Given the description of an element on the screen output the (x, y) to click on. 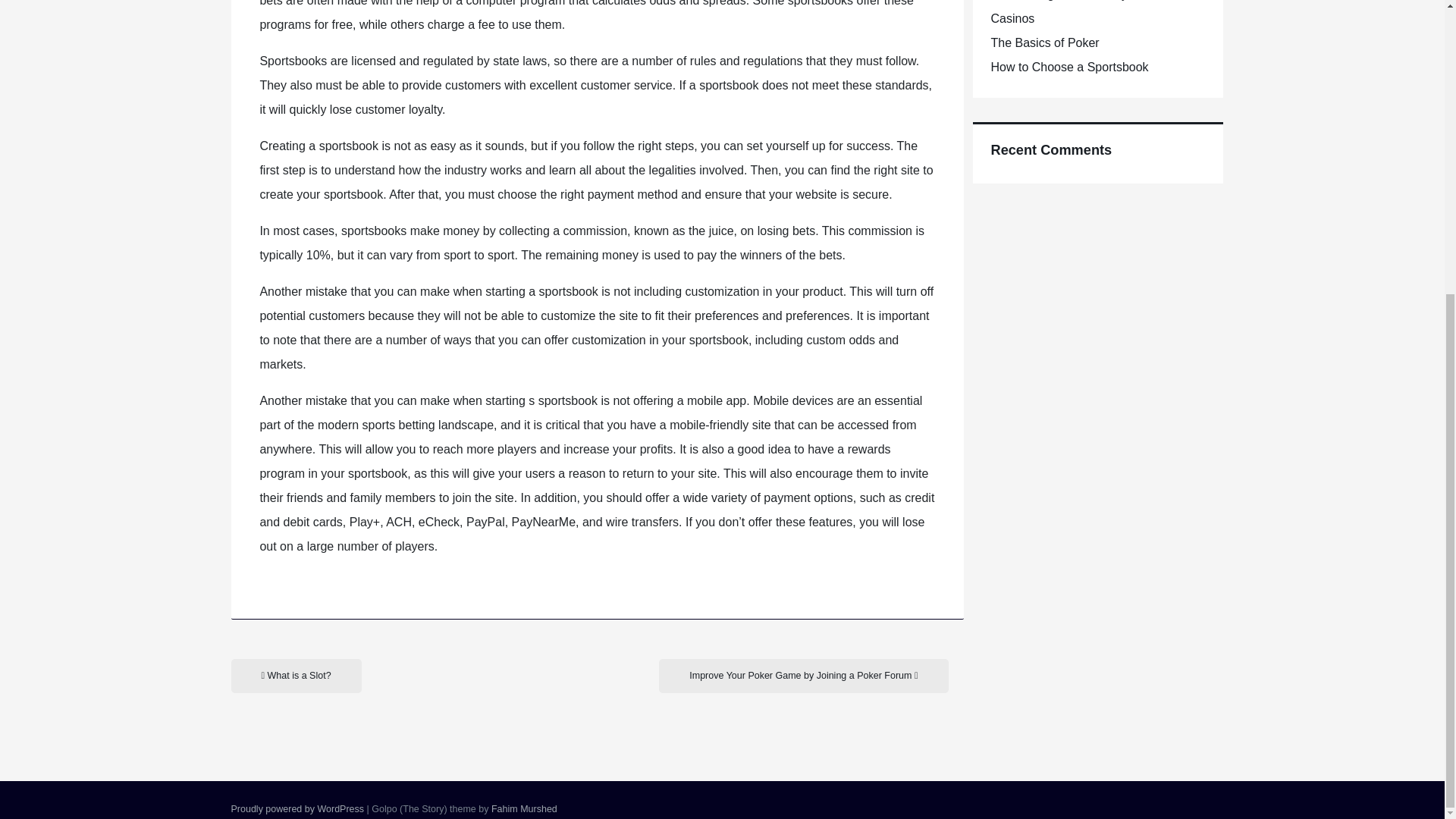
Fahim Murshed (524, 808)
What is a Slot? (295, 675)
How to Choose a Sportsbook (1069, 66)
The Basics of Poker (1044, 42)
How to Register and Play at Online Casinos (1084, 12)
Improve Your Poker Game by Joining a Poker Forum (803, 675)
Proudly powered by WordPress (297, 808)
